Given the description of an element on the screen output the (x, y) to click on. 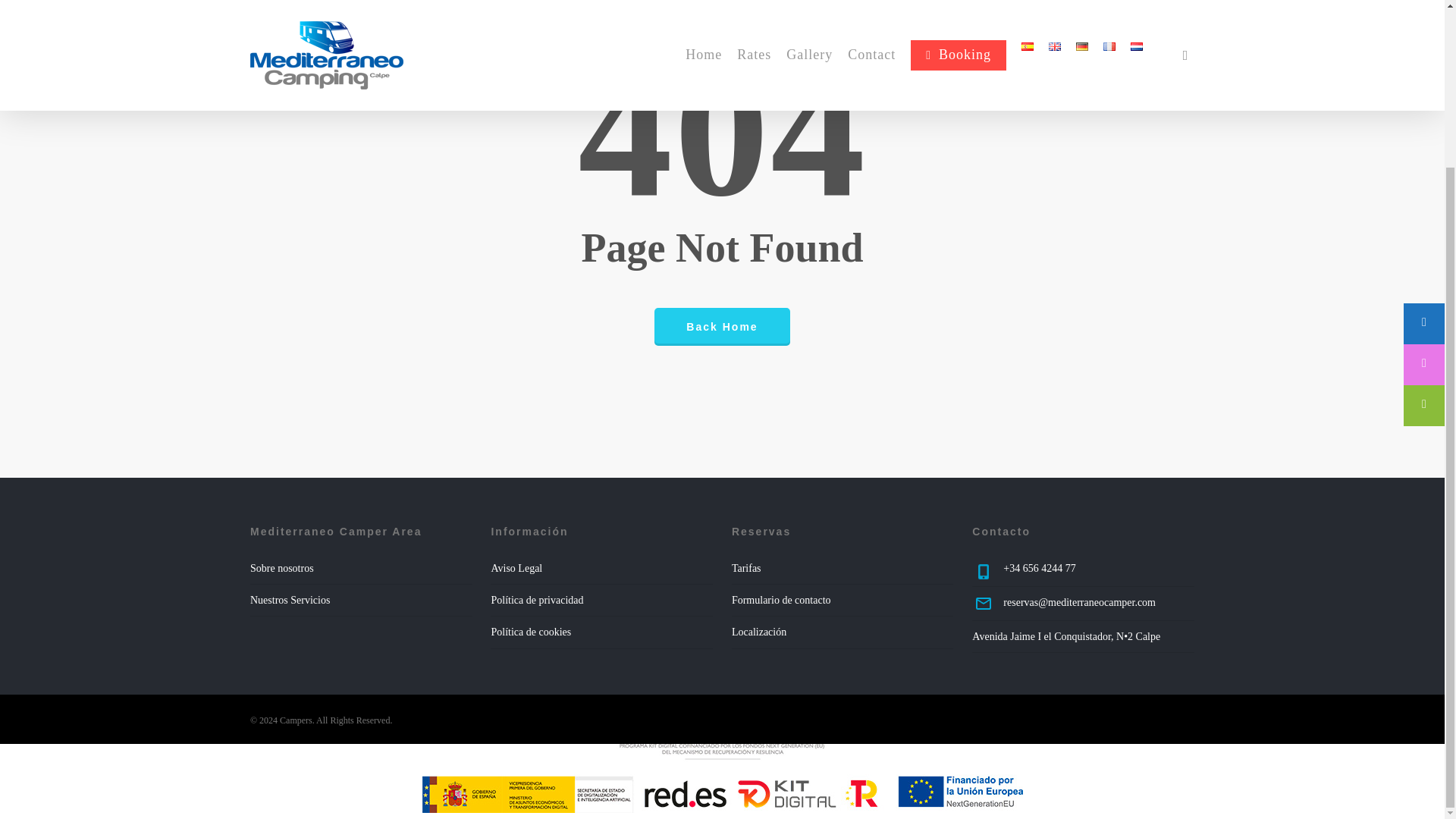
Formulario de contacto (781, 600)
Tarifas (746, 568)
Kit Ditital (722, 778)
Aviso Legal (515, 568)
Nuestros Servicios (290, 600)
Back Home (721, 325)
Sobre nosotros (282, 568)
